Given the description of an element on the screen output the (x, y) to click on. 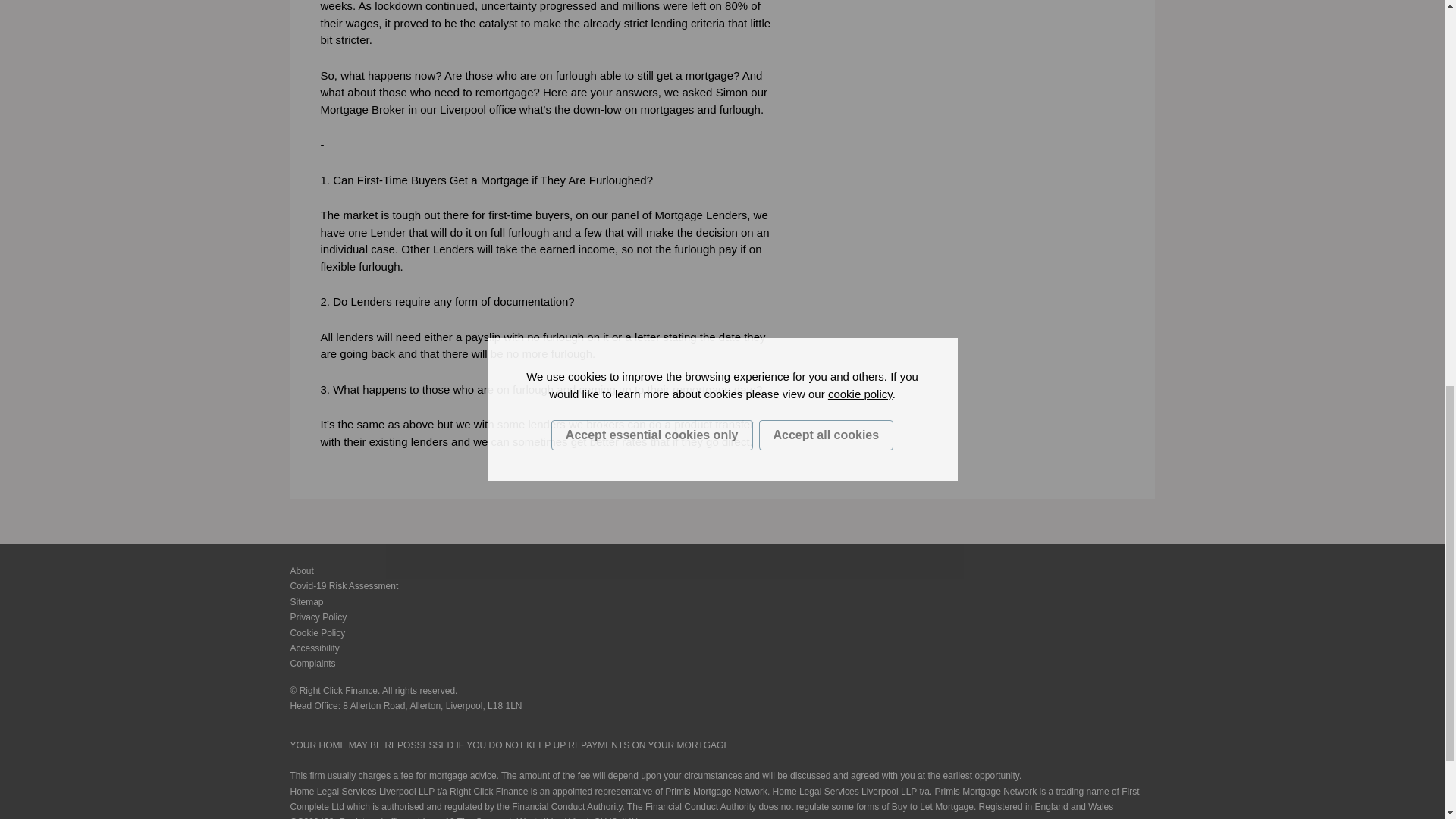
About (301, 570)
Sitemap (306, 602)
Cookie Policy (317, 633)
Accessibility (314, 647)
Privacy Policy (317, 616)
Complaints (311, 663)
Covid-19 Risk Assessment (343, 585)
